Given the description of an element on the screen output the (x, y) to click on. 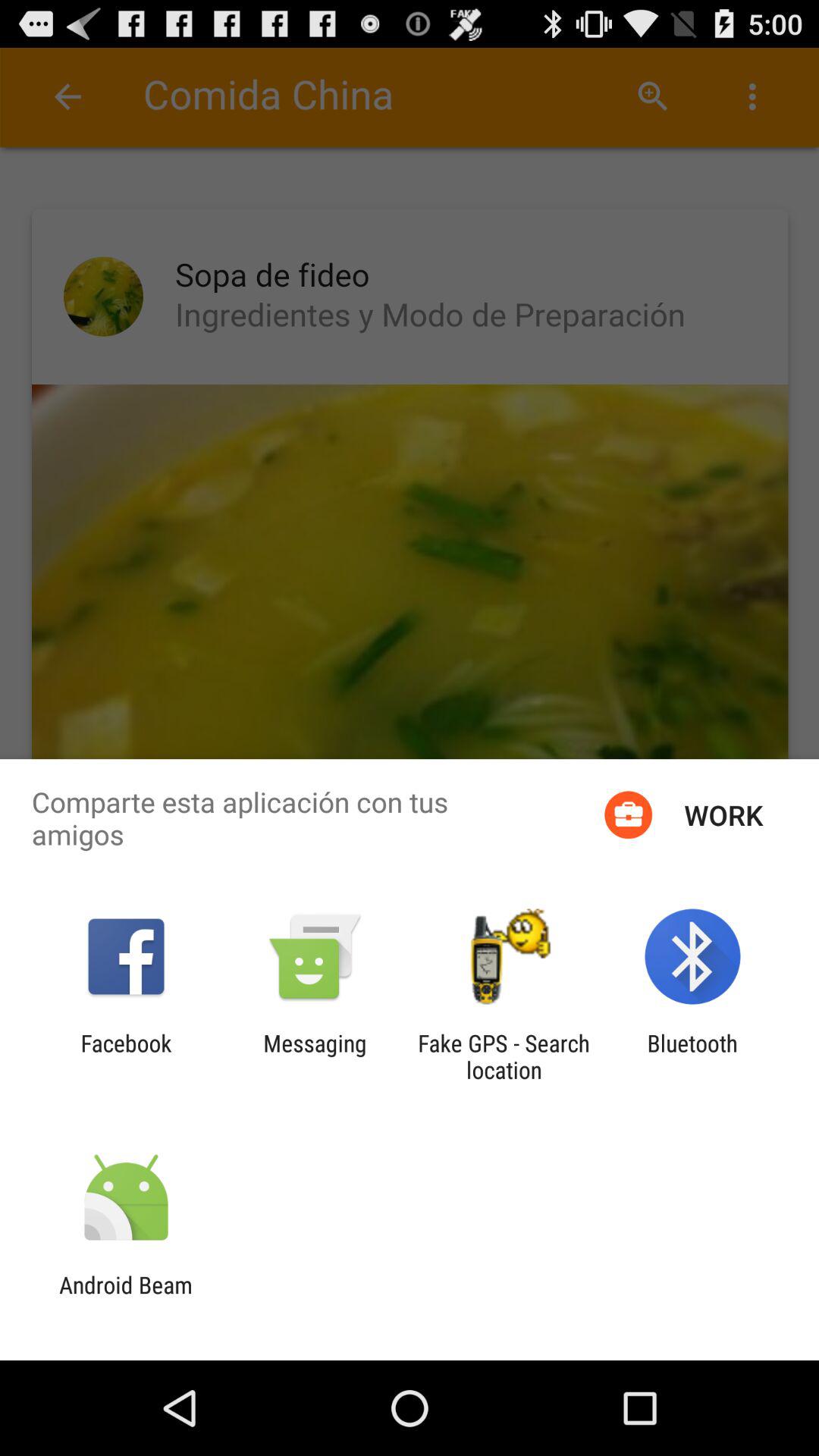
open the icon next to the messaging item (125, 1056)
